Given the description of an element on the screen output the (x, y) to click on. 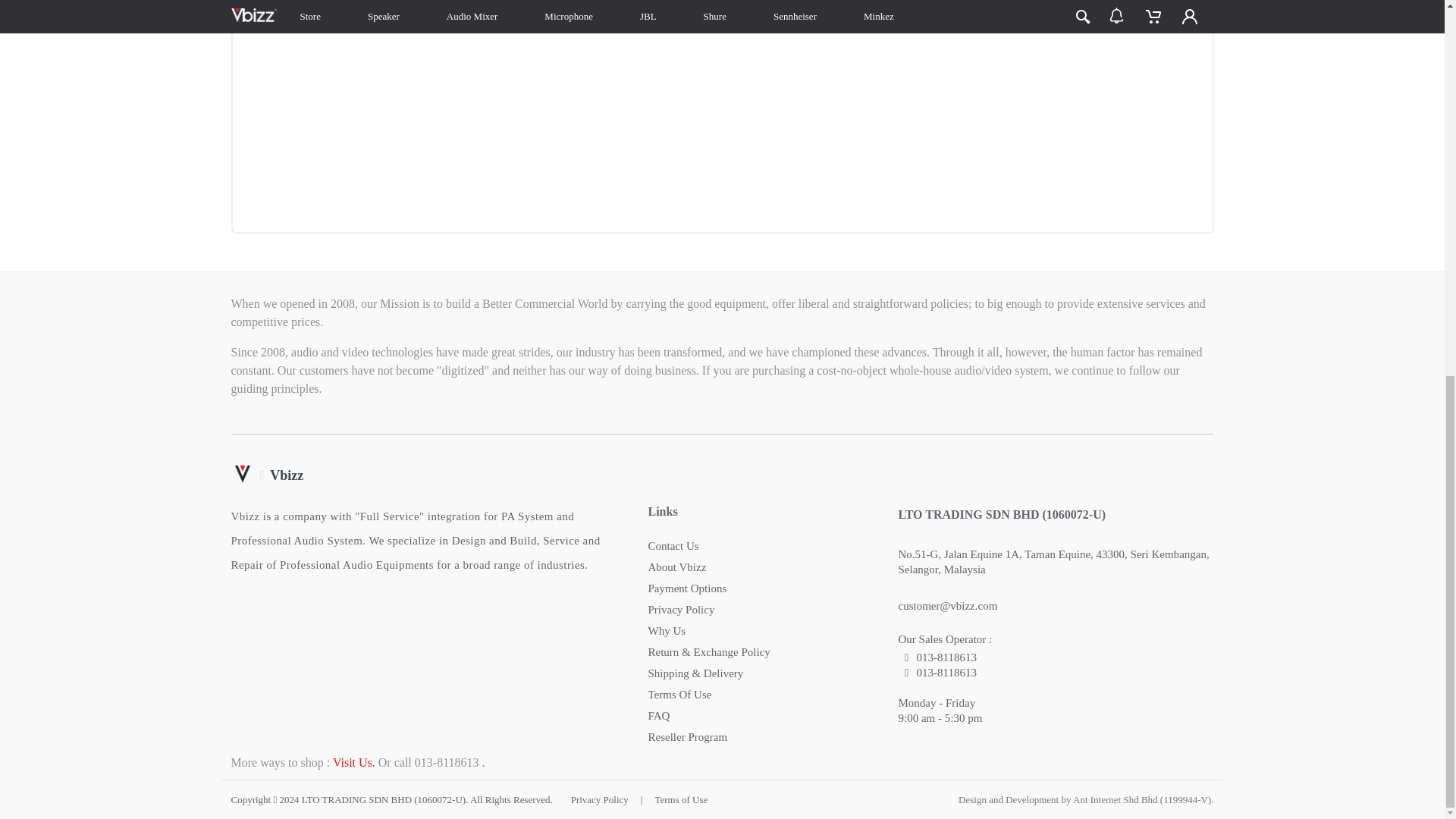
Contact Us (672, 545)
Reviews (686, 3)
Downloads (566, 3)
About Vbizz (676, 567)
Description (296, 3)
Specification (432, 3)
